Given the description of an element on the screen output the (x, y) to click on. 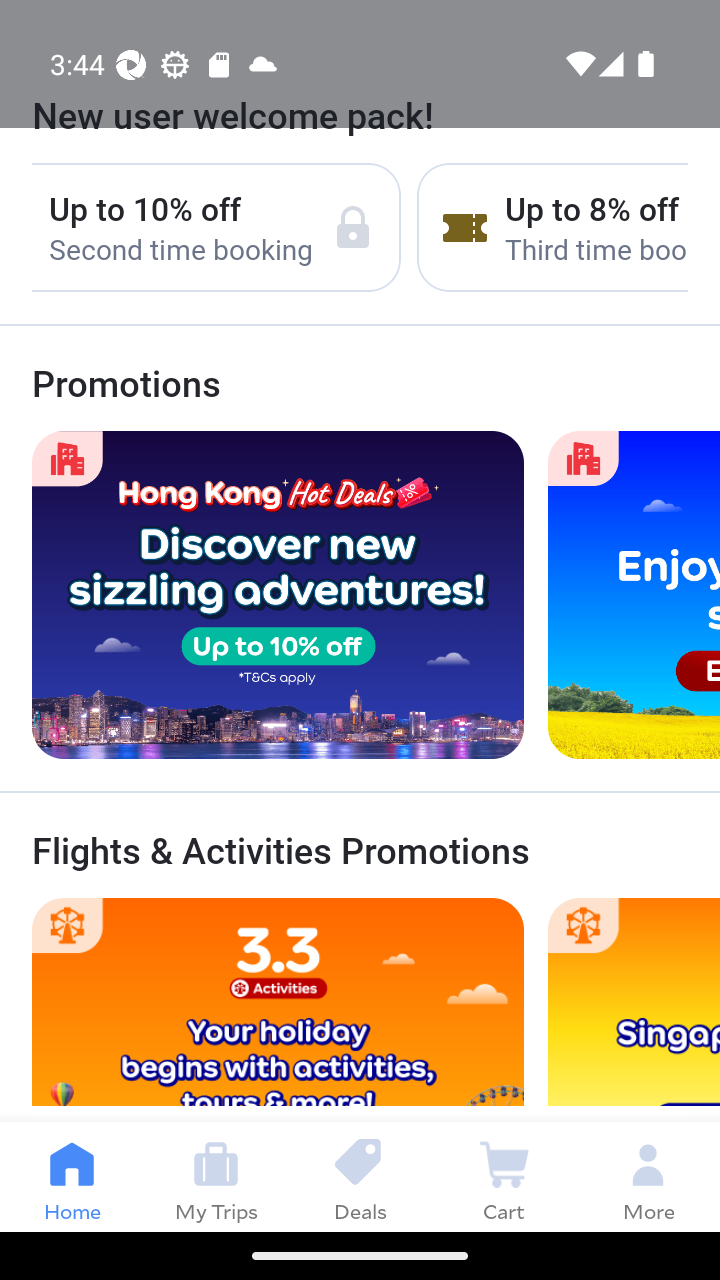
Home (72, 1176)
My Trips (216, 1176)
Deals (360, 1176)
Cart (504, 1176)
More (648, 1176)
